Given the description of an element on the screen output the (x, y) to click on. 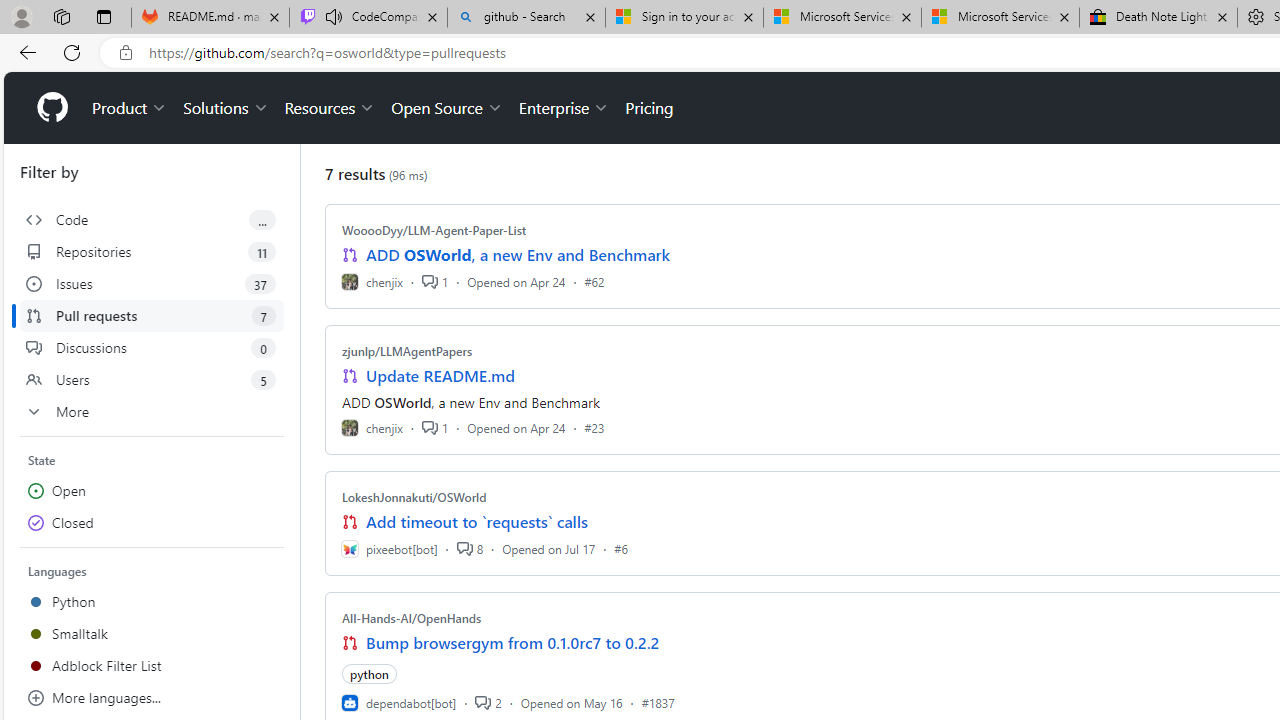
Resources (330, 107)
#23 (594, 427)
github - Search (526, 17)
